Given the description of an element on the screen output the (x, y) to click on. 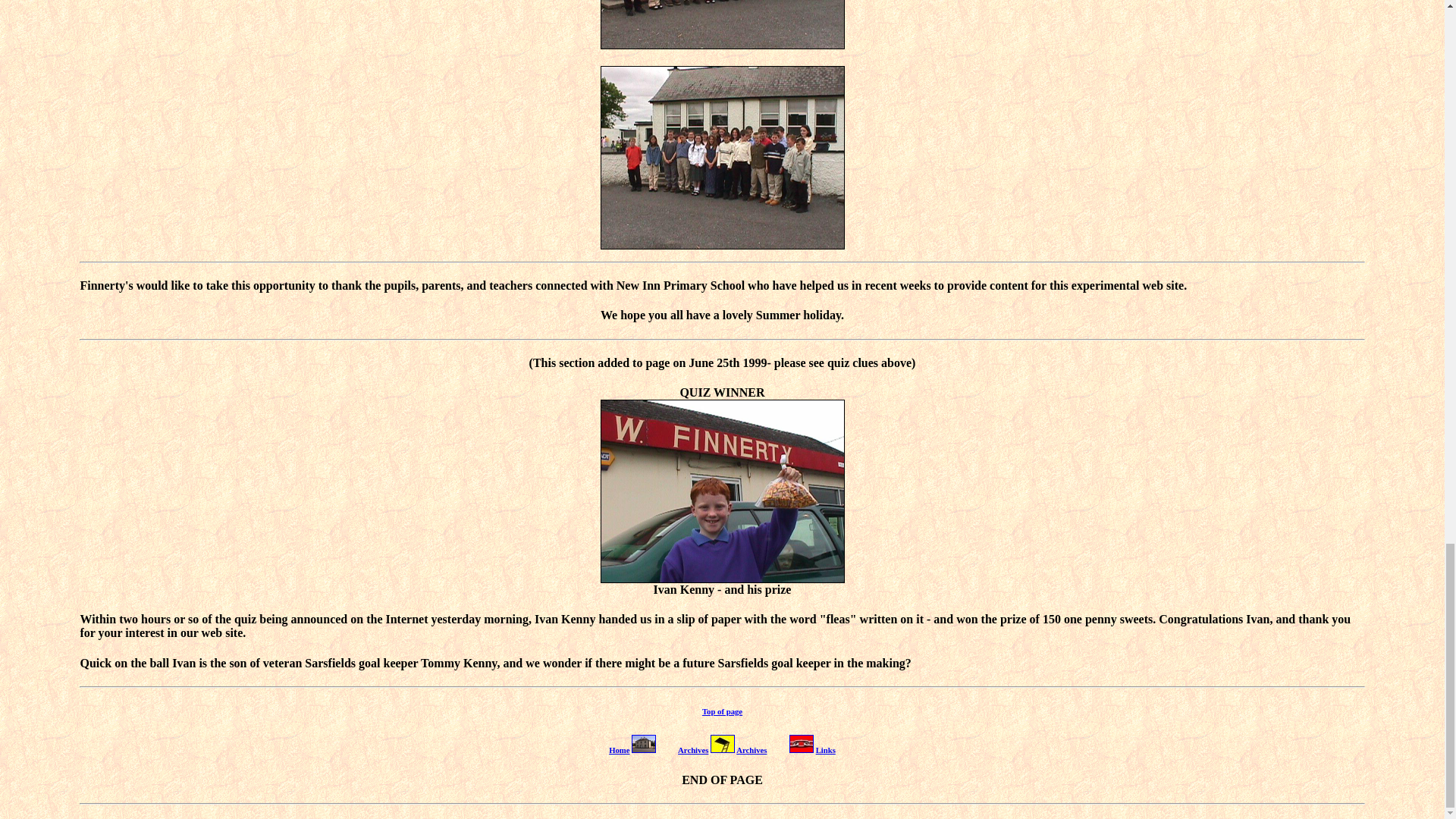
Archives (692, 749)
Archives (751, 749)
This (544, 362)
Top of page (721, 710)
Home (618, 749)
Links (825, 749)
WINNER (739, 391)
